Given the description of an element on the screen output the (x, y) to click on. 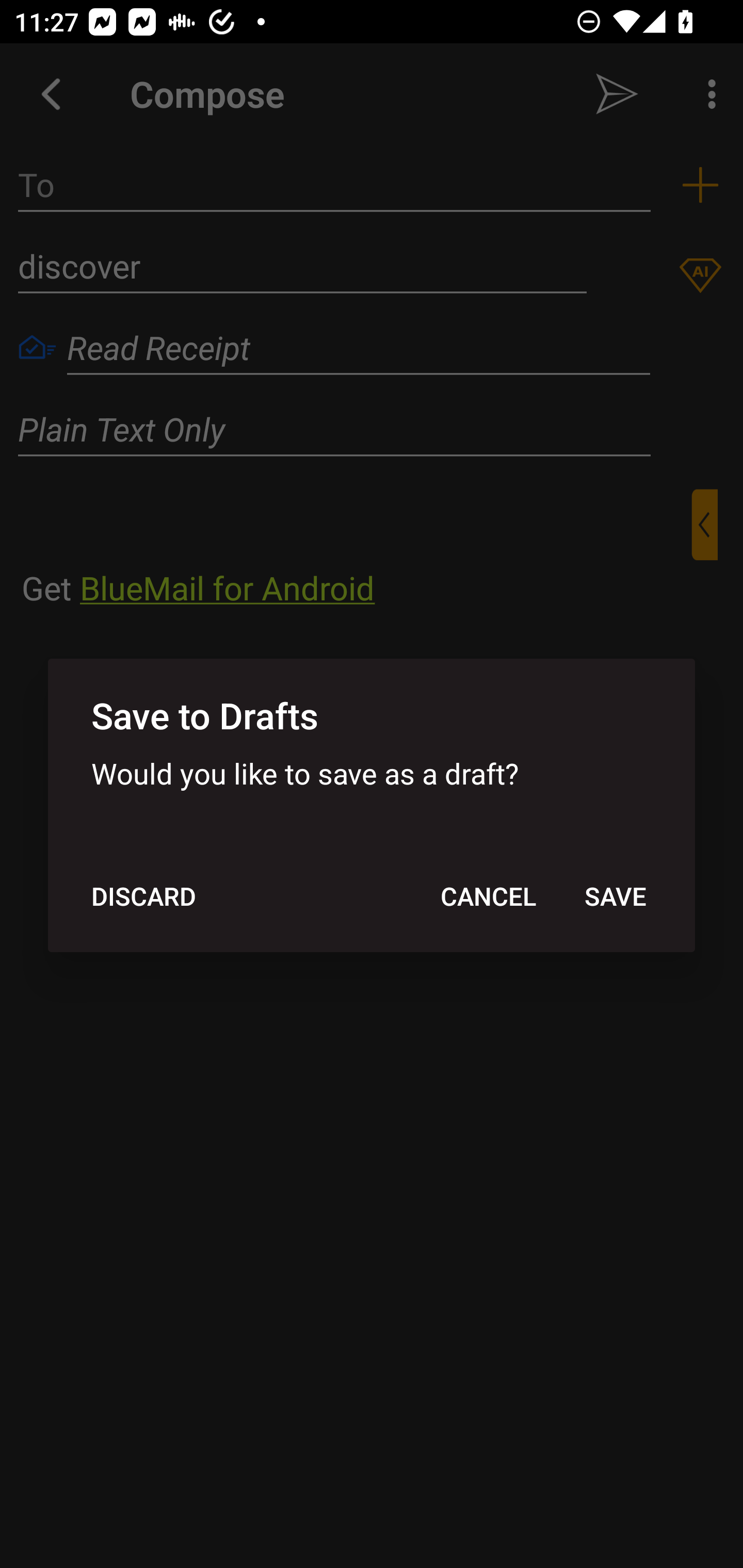
DISCARD (143, 895)
CANCEL (488, 895)
SAVE (615, 895)
